Given the description of an element on the screen output the (x, y) to click on. 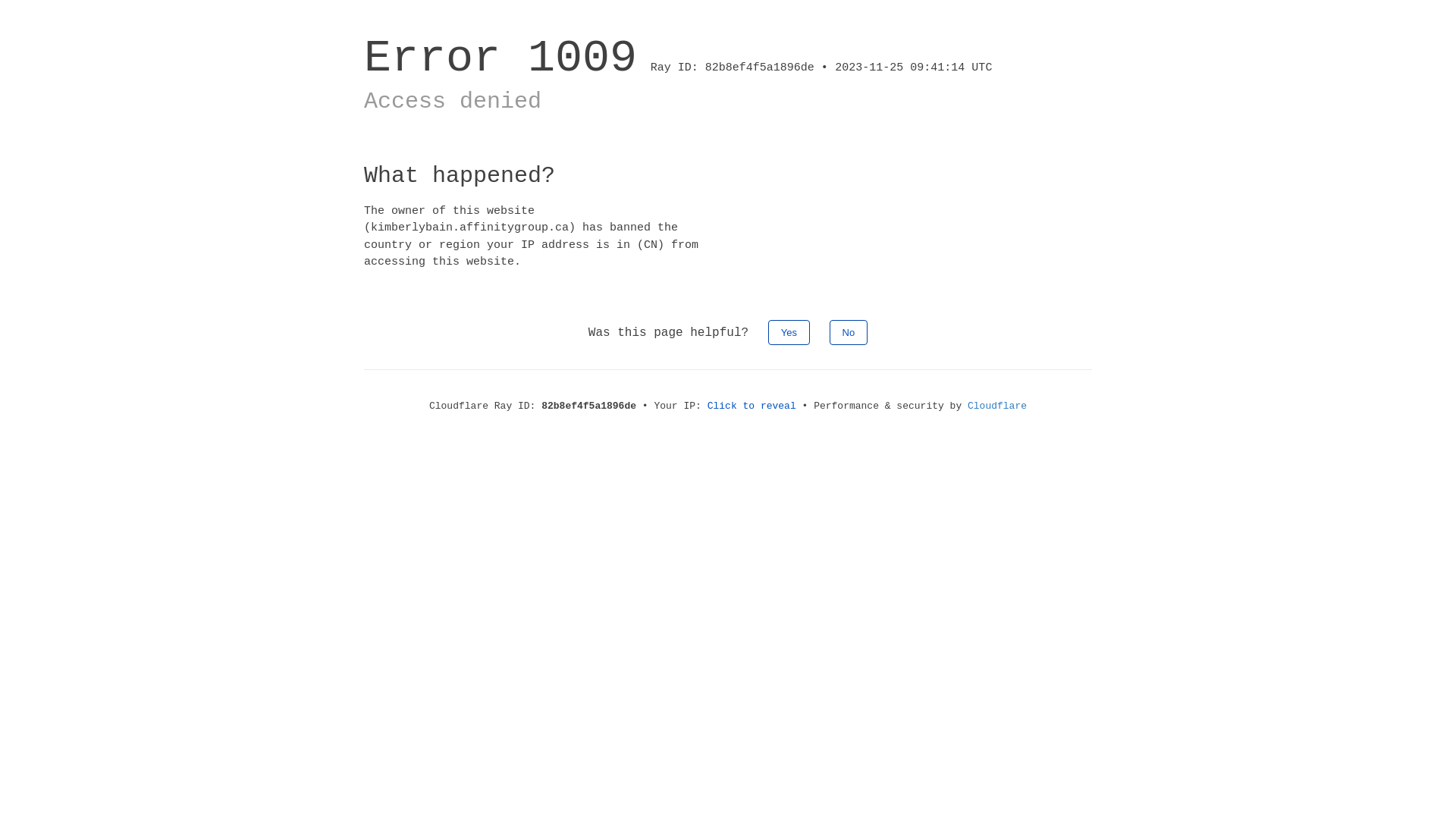
Yes Element type: text (788, 332)
Click to reveal Element type: text (751, 405)
Cloudflare Element type: text (996, 405)
No Element type: text (848, 332)
